Given the description of an element on the screen output the (x, y) to click on. 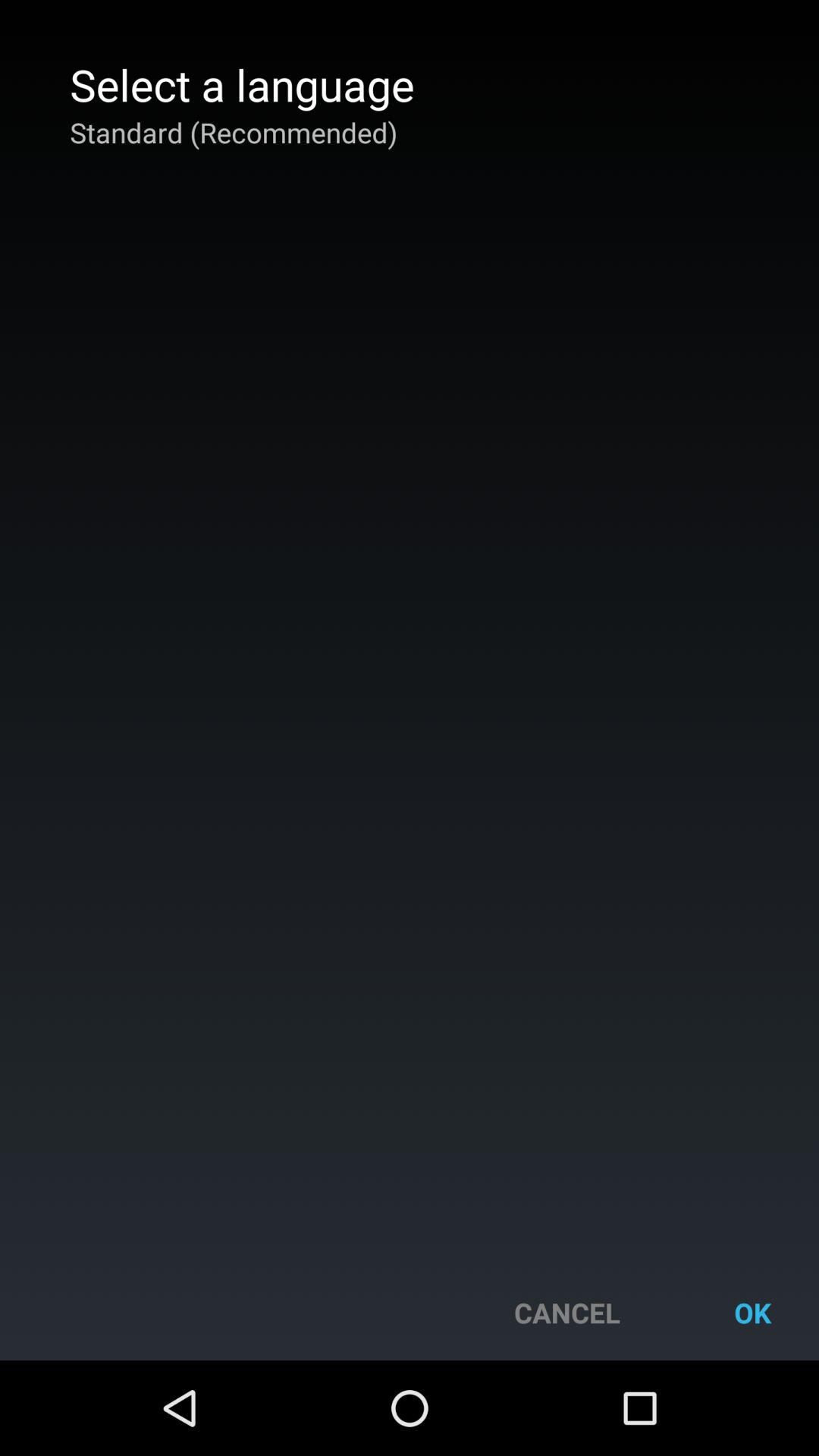
jump until cancel button (566, 1312)
